Given the description of an element on the screen output the (x, y) to click on. 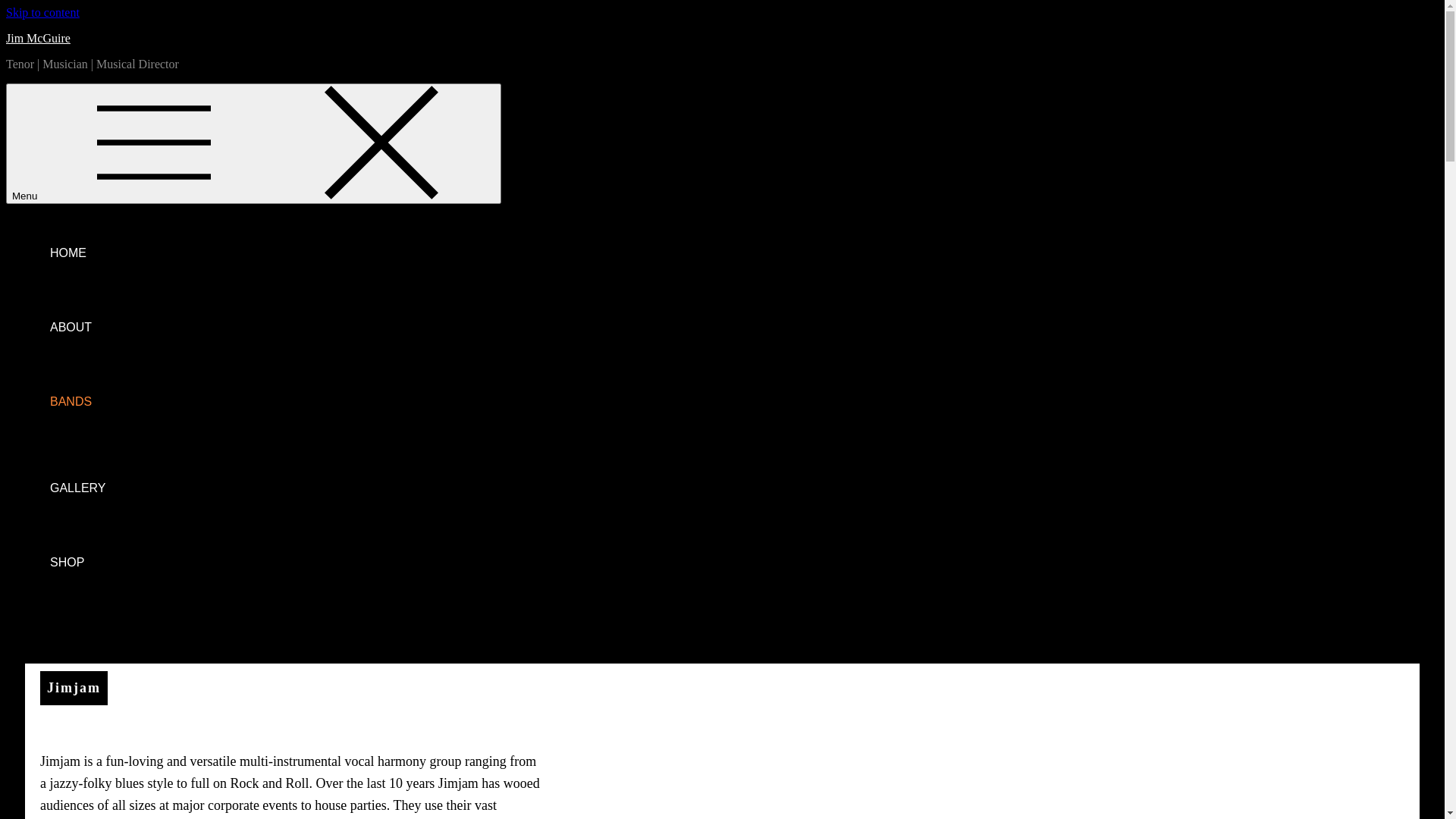
SHOP Element type: text (737, 562)
Skip to content Element type: text (42, 12)
Jimjam Element type: text (73, 688)
ABOUT Element type: text (737, 327)
BANDS Element type: text (737, 401)
Menu Element type: text (253, 143)
GALLERY Element type: text (737, 488)
Jim McGuire Element type: text (38, 37)
HOME Element type: text (737, 253)
